Given the description of an element on the screen output the (x, y) to click on. 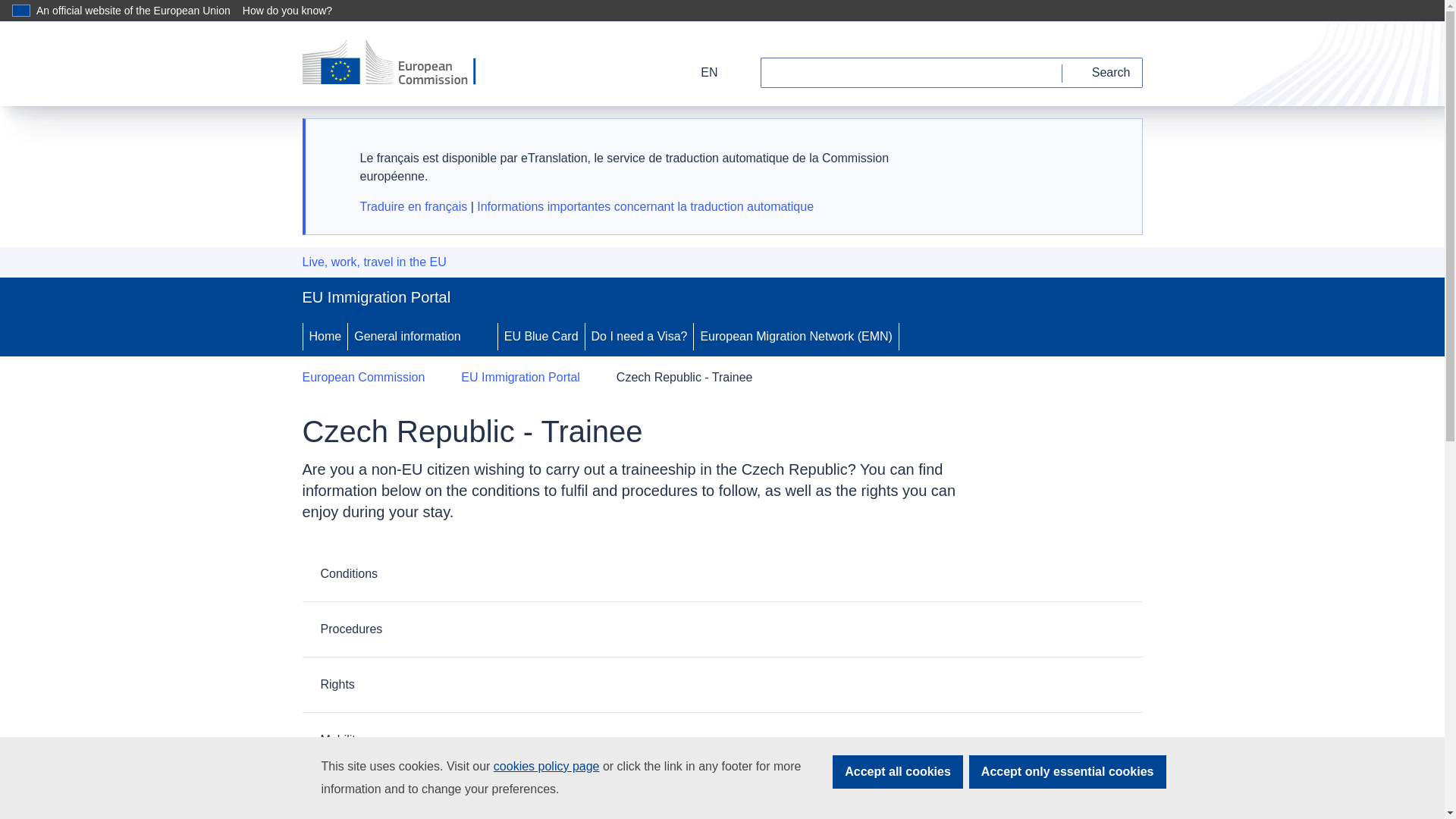
Fermer ce message (1112, 146)
EU Blue Card (541, 336)
Links (721, 793)
How do you know? (295, 10)
EU Immigration Portal (520, 377)
Do I need a Visa? (639, 336)
Accept all cookies (897, 771)
Conditions (721, 574)
Home (324, 336)
Procedures (721, 628)
cookies policy page (546, 766)
General information (405, 336)
Search (1102, 72)
